Given the description of an element on the screen output the (x, y) to click on. 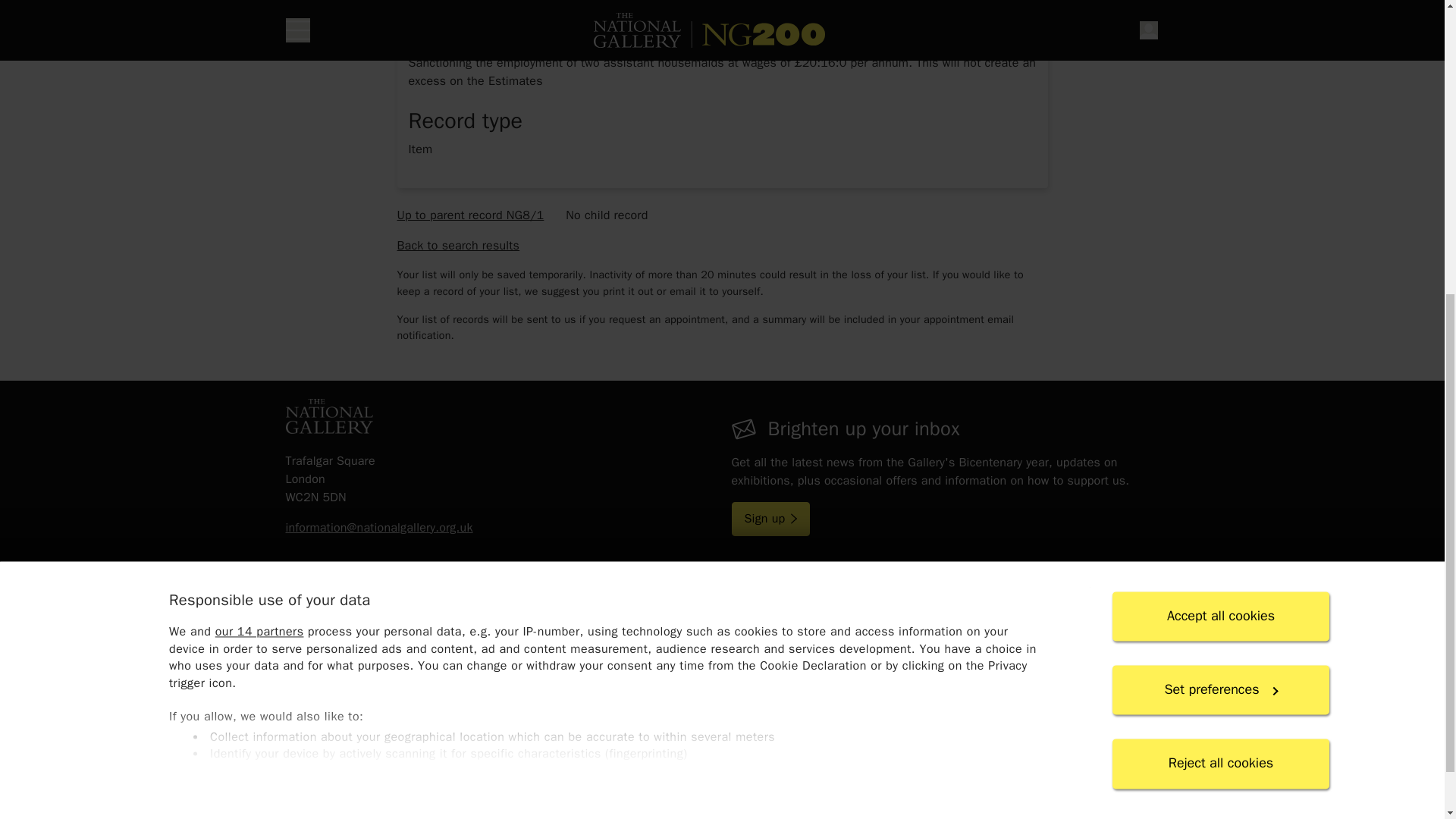
our 14 partners (258, 145)
cookies policy (596, 347)
details section (720, 287)
